Given the description of an element on the screen output the (x, y) to click on. 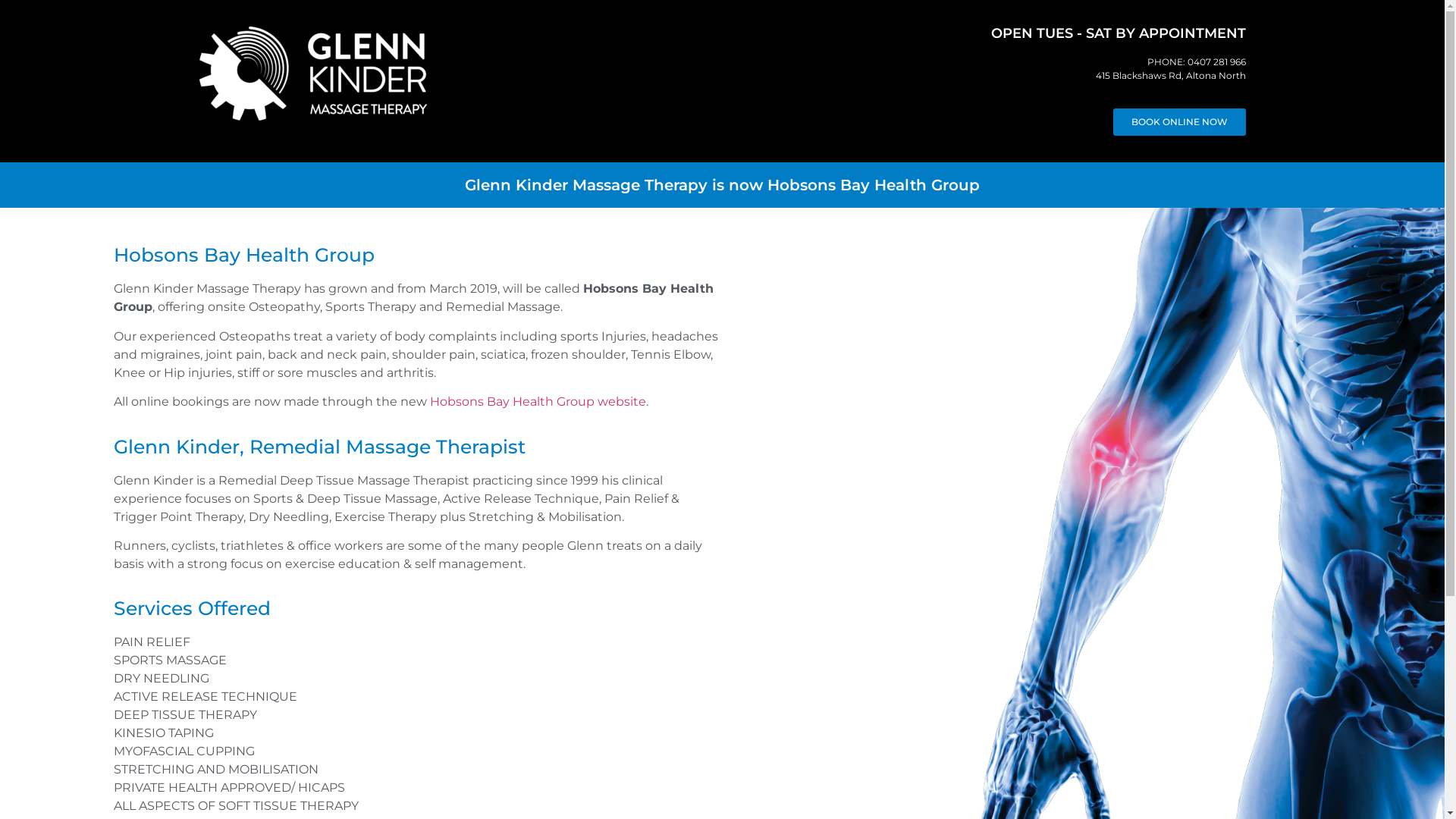
BOOK ONLINE NOW Element type: text (1179, 121)
Hobsons Bay Health Group website Element type: text (537, 401)
